Given the description of an element on the screen output the (x, y) to click on. 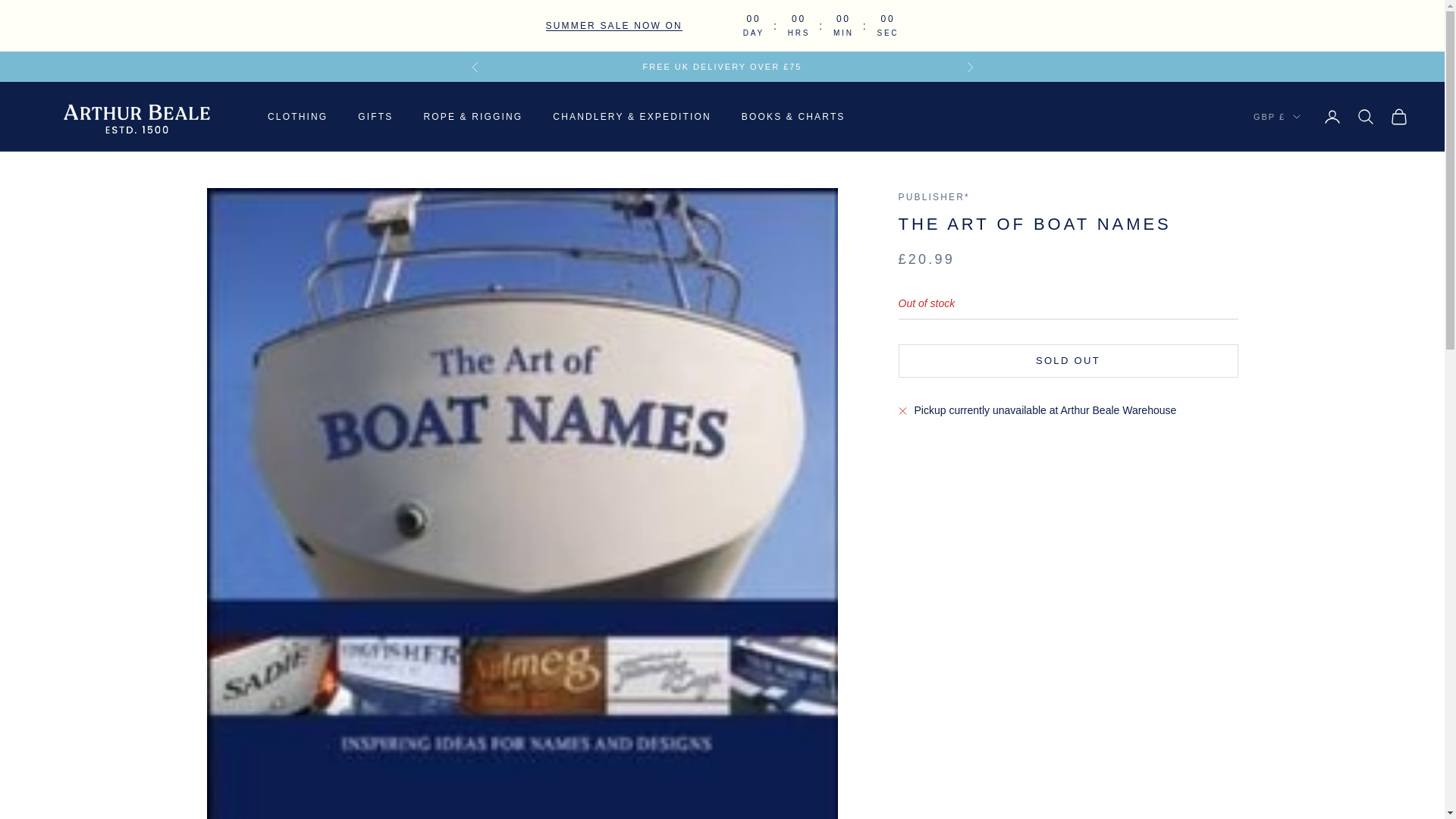
Summer Sale (614, 25)
SUMMER SALE NOW ON (614, 25)
Arthur Beale (136, 117)
